Given the description of an element on the screen output the (x, y) to click on. 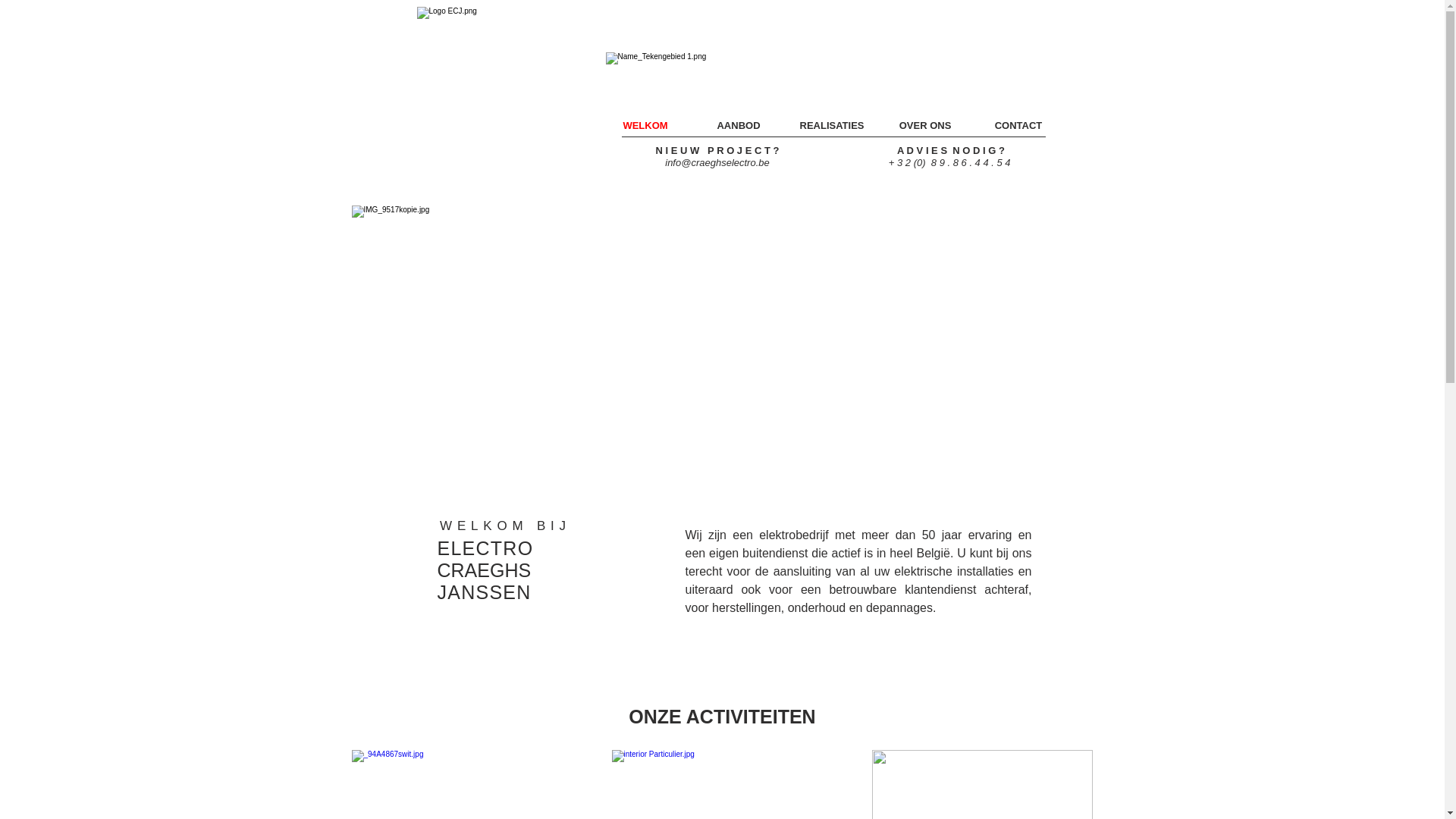
AANBOD Element type: text (737, 125)
WELKOM BIJ Element type: text (505, 525)
WELKOM Element type: text (645, 125)
OVER ONS Element type: text (924, 125)
CONTACT Element type: text (1018, 125)
info@craeghselectro.be Element type: text (717, 162)
REALISATIES Element type: text (831, 125)
ELECTRO
CRAEGHS Element type: text (484, 558)
